Given the description of an element on the screen output the (x, y) to click on. 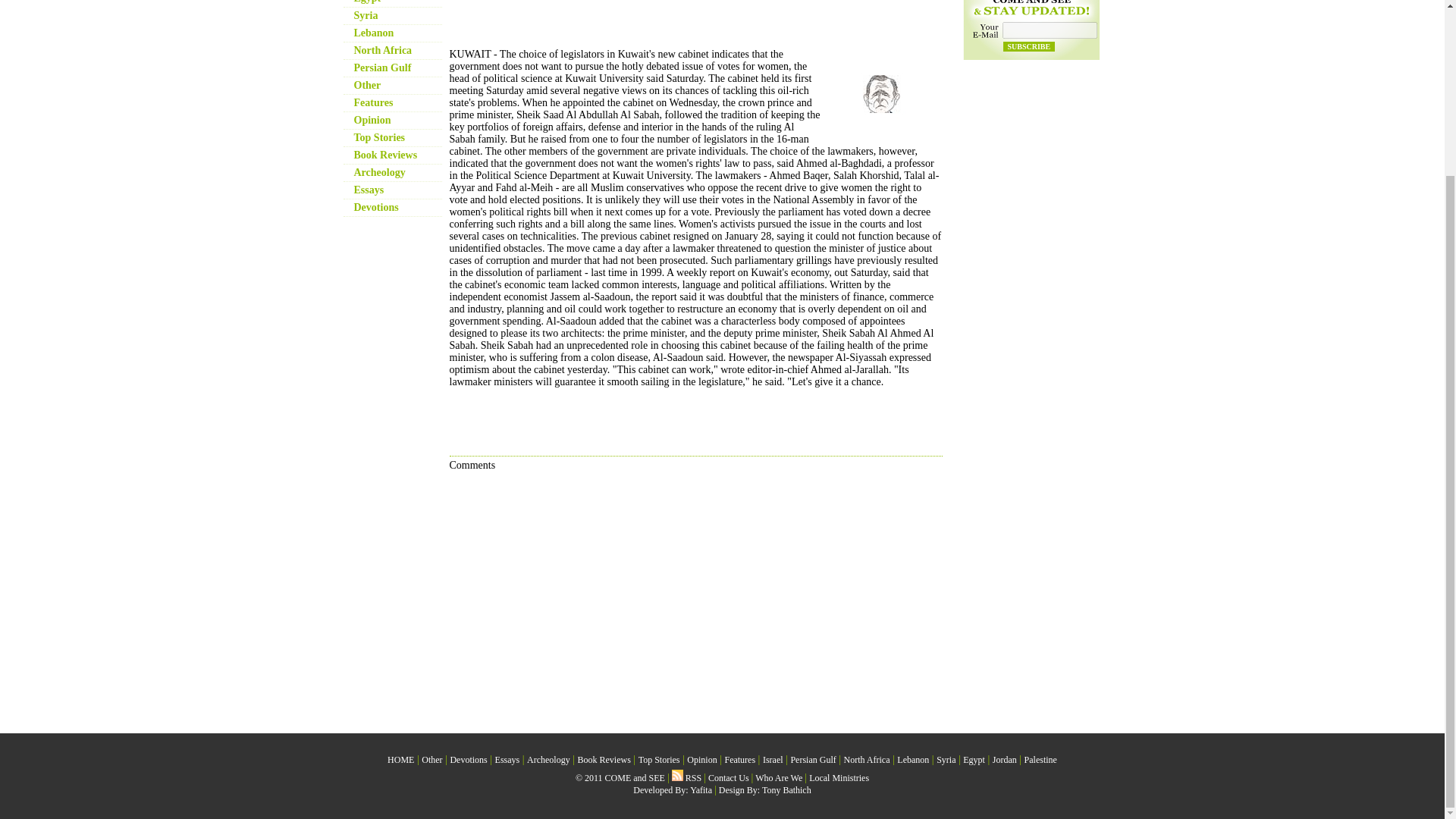
North Africa (382, 50)
SUBSCRIBE (1028, 46)
Other (432, 759)
Devotions (375, 206)
Top Stories (378, 137)
SUBSCRIBE (1028, 46)
Book Reviews (384, 154)
Egypt (366, 2)
Lebanon (373, 32)
North Africa (382, 50)
Persian Gulf (381, 67)
HOME (400, 759)
Syria (365, 15)
Features (373, 102)
Syria (365, 15)
